Given the description of an element on the screen output the (x, y) to click on. 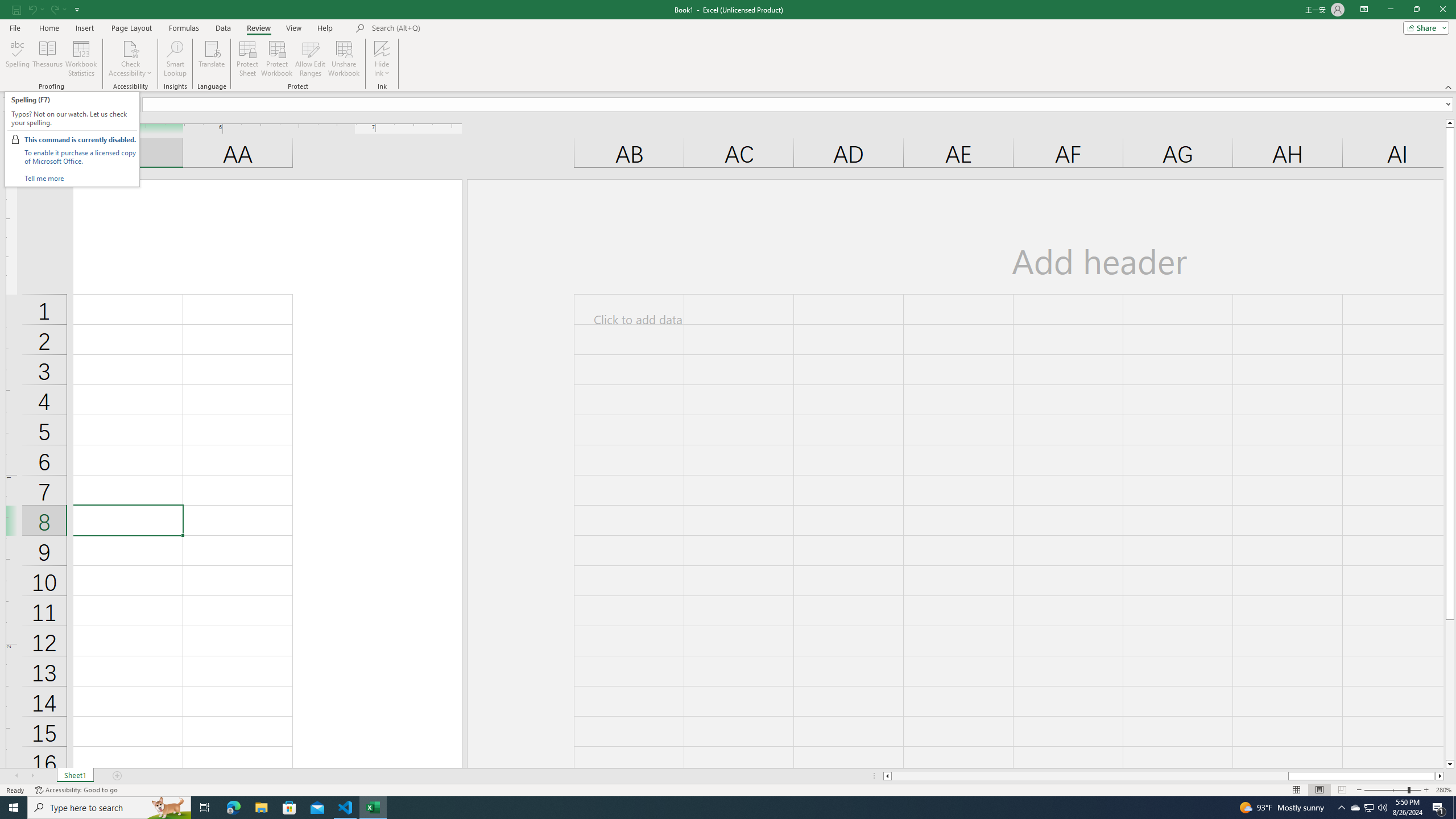
Unshare Workbook (344, 58)
This command is currently disabled. (79, 139)
